Given the description of an element on the screen output the (x, y) to click on. 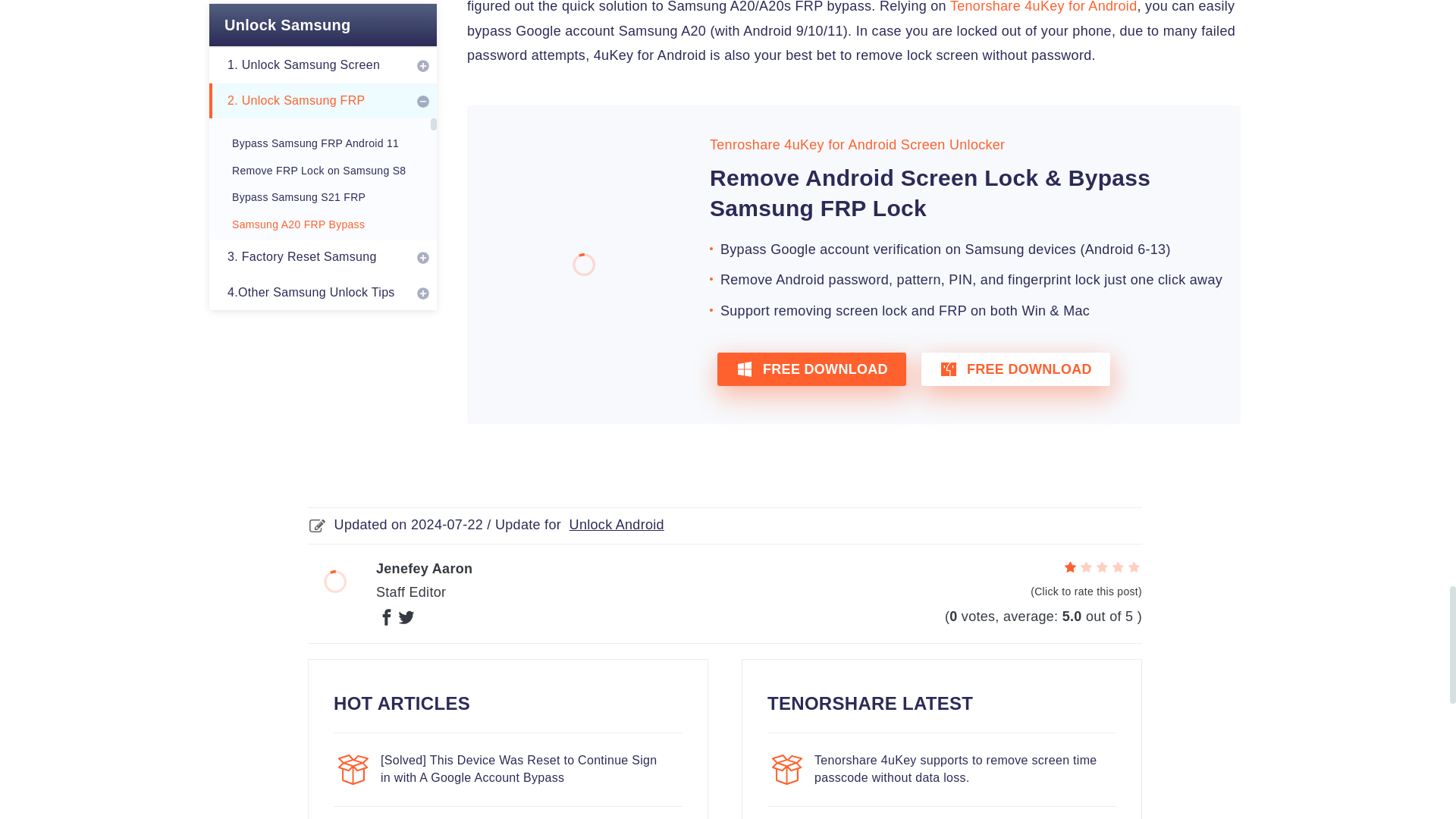
2 (1086, 567)
4 (1118, 567)
1 (1070, 567)
3 (1102, 567)
5 (1133, 567)
